Given the description of an element on the screen output the (x, y) to click on. 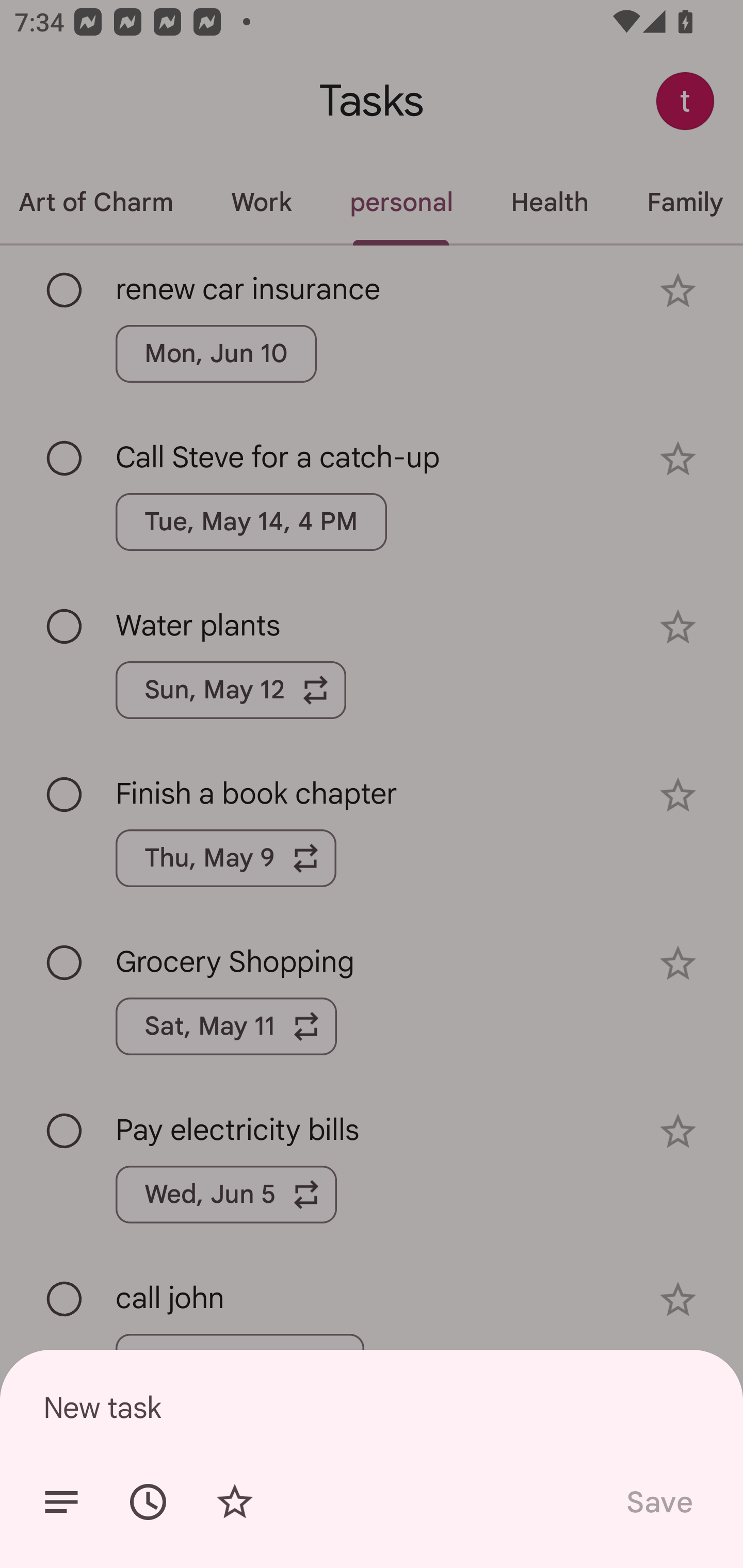
New task (371, 1407)
Save (659, 1501)
Add details (60, 1501)
Set date/time (147, 1501)
Add star (234, 1501)
